Given the description of an element on the screen output the (x, y) to click on. 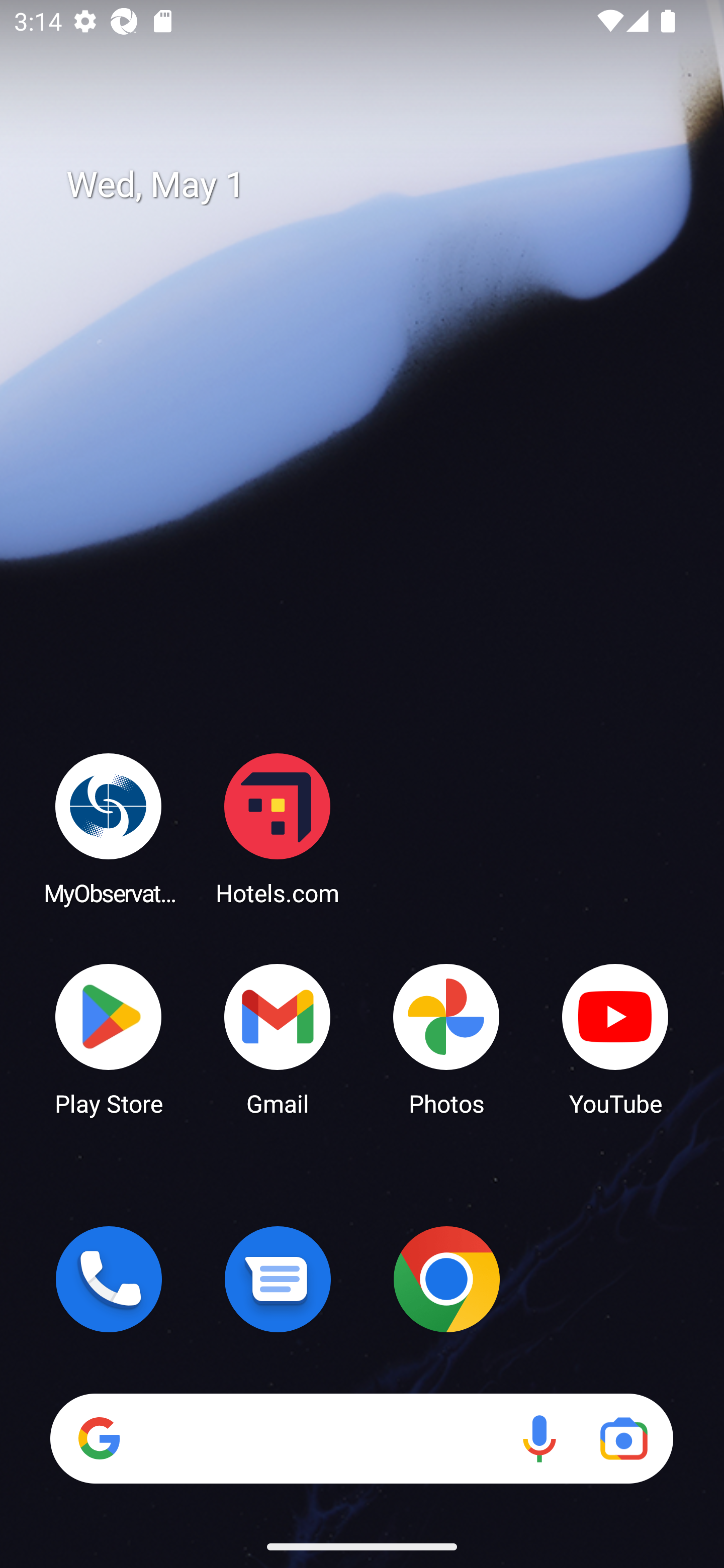
Wed, May 1 (375, 184)
MyObservatory (108, 828)
Hotels.com (277, 828)
Play Store (108, 1038)
Gmail (277, 1038)
Photos (445, 1038)
YouTube (615, 1038)
Phone (108, 1279)
Messages (277, 1279)
Chrome (446, 1279)
Search Voice search Google Lens (361, 1438)
Voice search (539, 1438)
Google Lens (623, 1438)
